Given the description of an element on the screen output the (x, y) to click on. 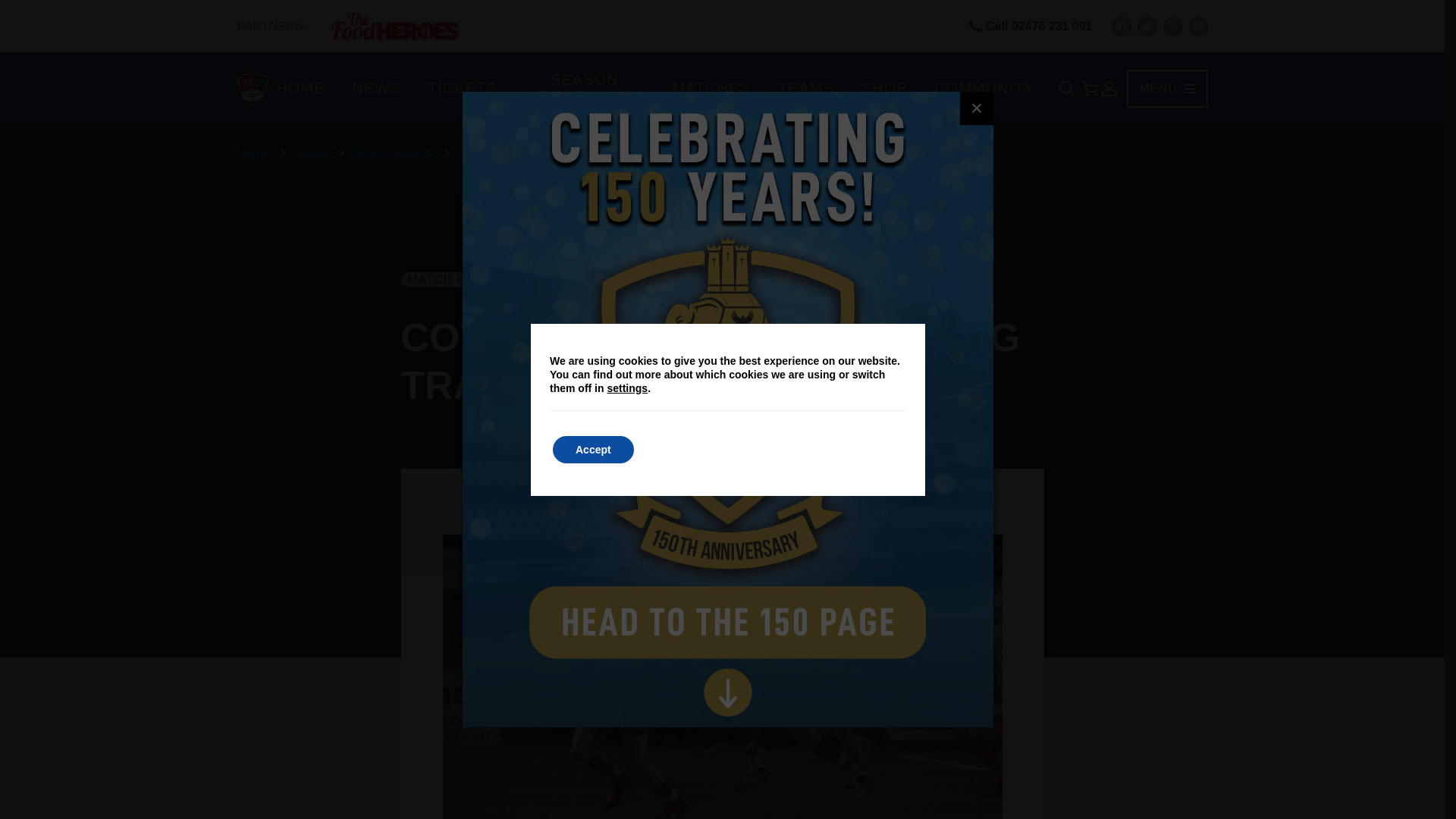
SHOP (884, 88)
TICKETS (461, 88)
SEASON MEMBERSHIPS (584, 88)
TEAMS (805, 88)
MATCHES (710, 88)
NEWS (375, 88)
COMMUNITY (984, 88)
MENU (1166, 88)
HOME (299, 88)
Home (252, 152)
Skip to main content (11, 11)
Call 02476 231 001 (1030, 25)
